Given the description of an element on the screen output the (x, y) to click on. 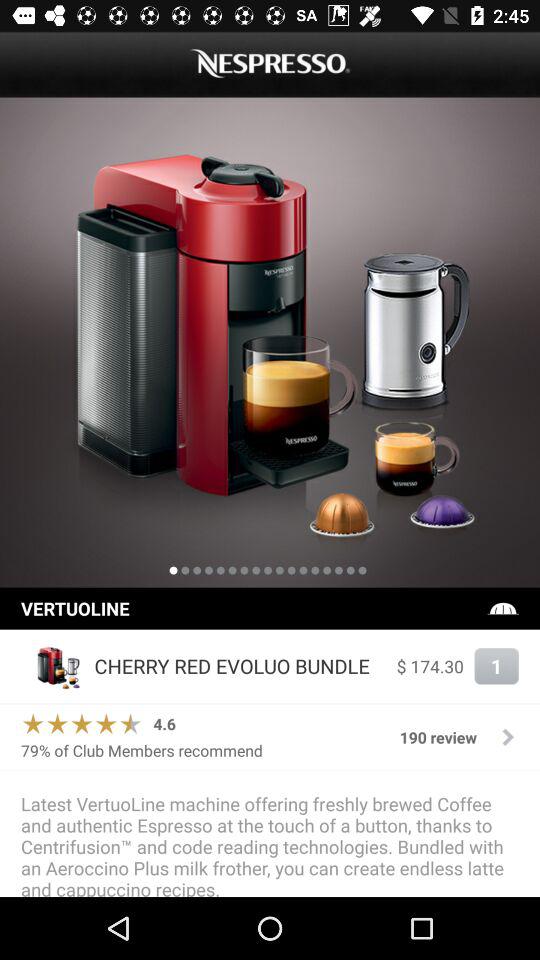
open the icon above the 79 of club (164, 723)
